Given the description of an element on the screen output the (x, y) to click on. 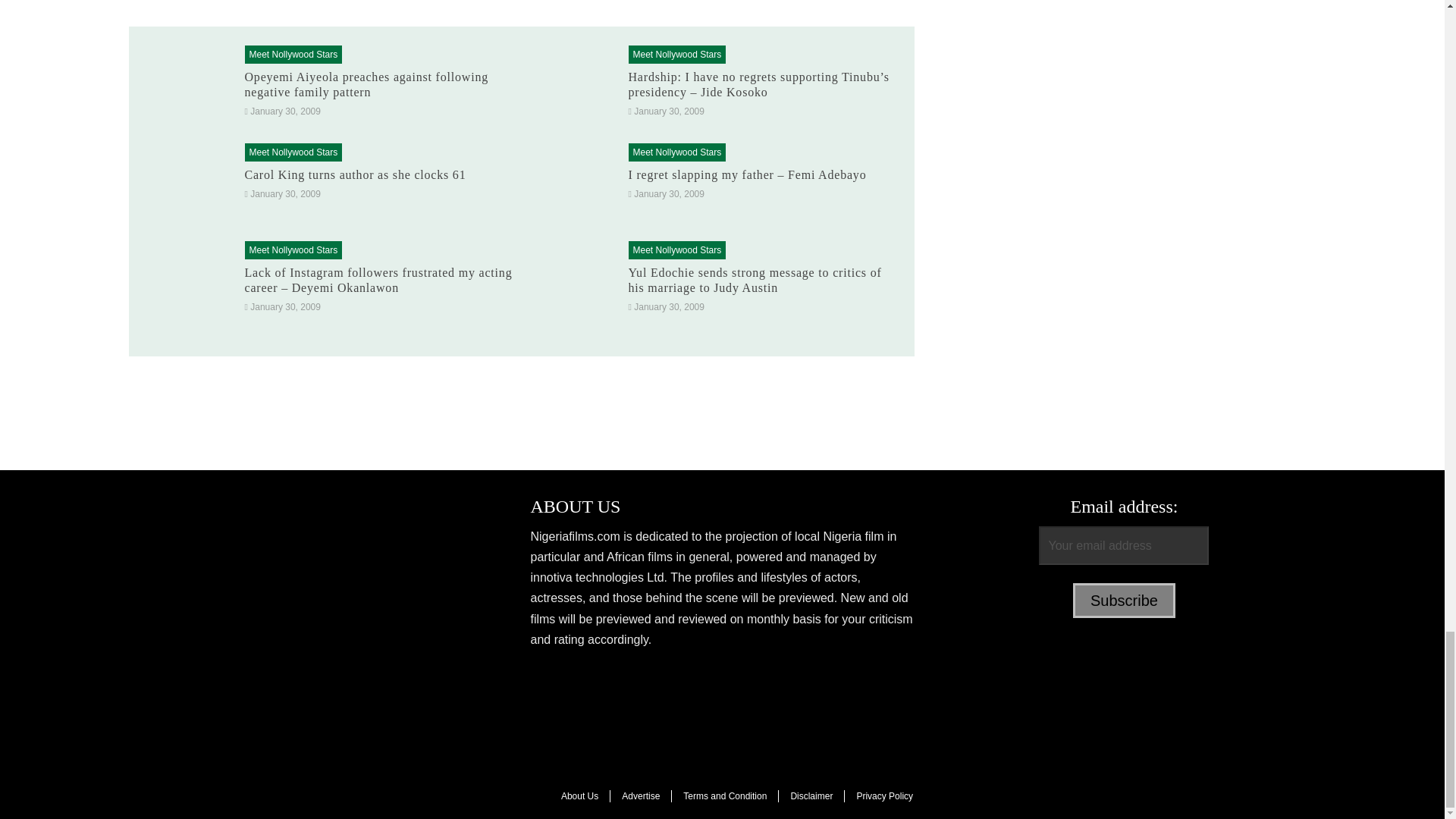
Subscribe (1123, 600)
